Given the description of an element on the screen output the (x, y) to click on. 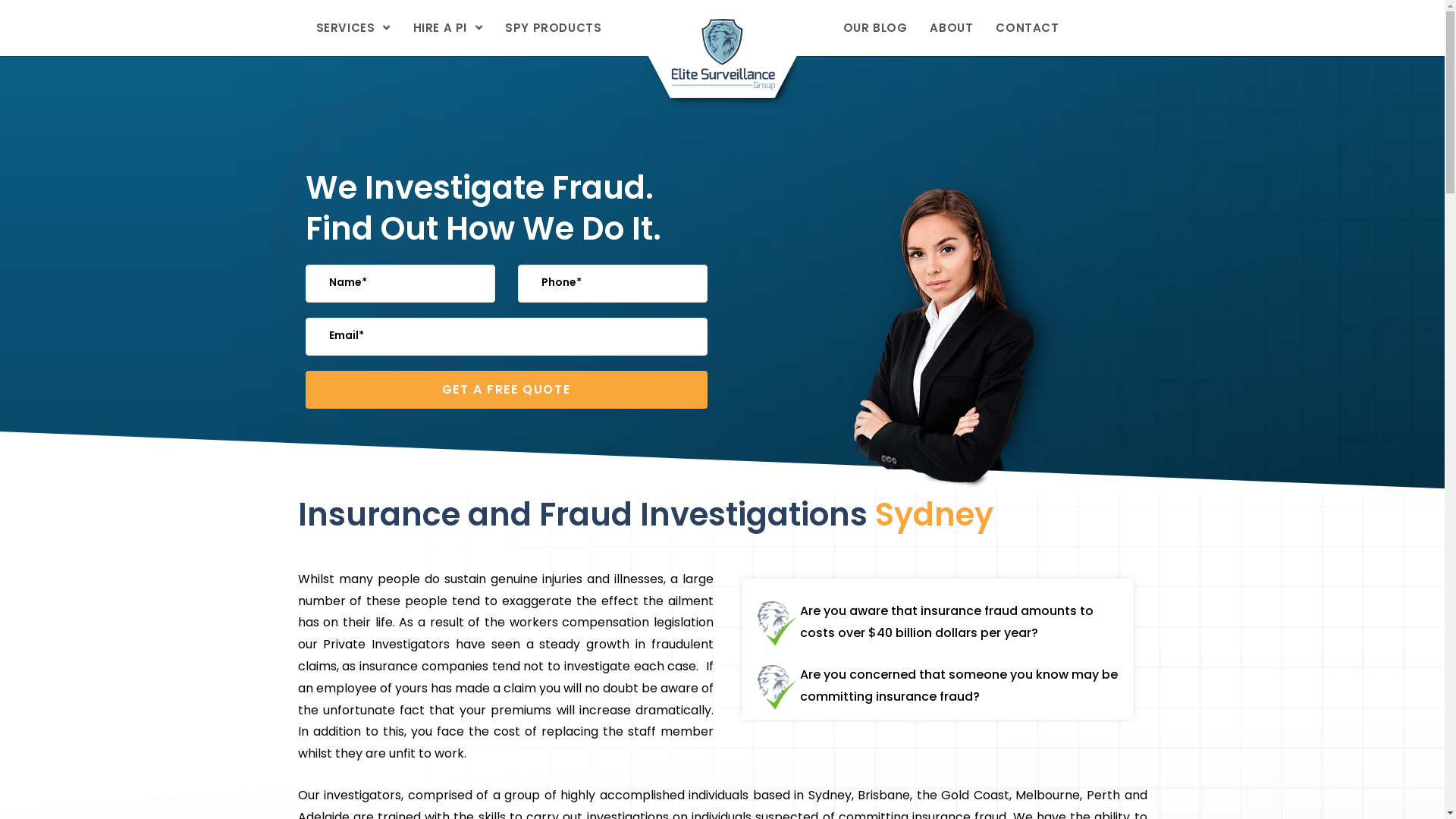
SPY PRODUCTS Element type: text (552, 28)
OUR BLOG Element type: text (874, 28)
SERVICES Element type: text (352, 28)
HIRE A PI Element type: text (447, 28)
Get A Free Quote Element type: text (505, 389)
CONTACT Element type: text (1027, 28)
ABOUT Element type: text (951, 28)
